Given the description of an element on the screen output the (x, y) to click on. 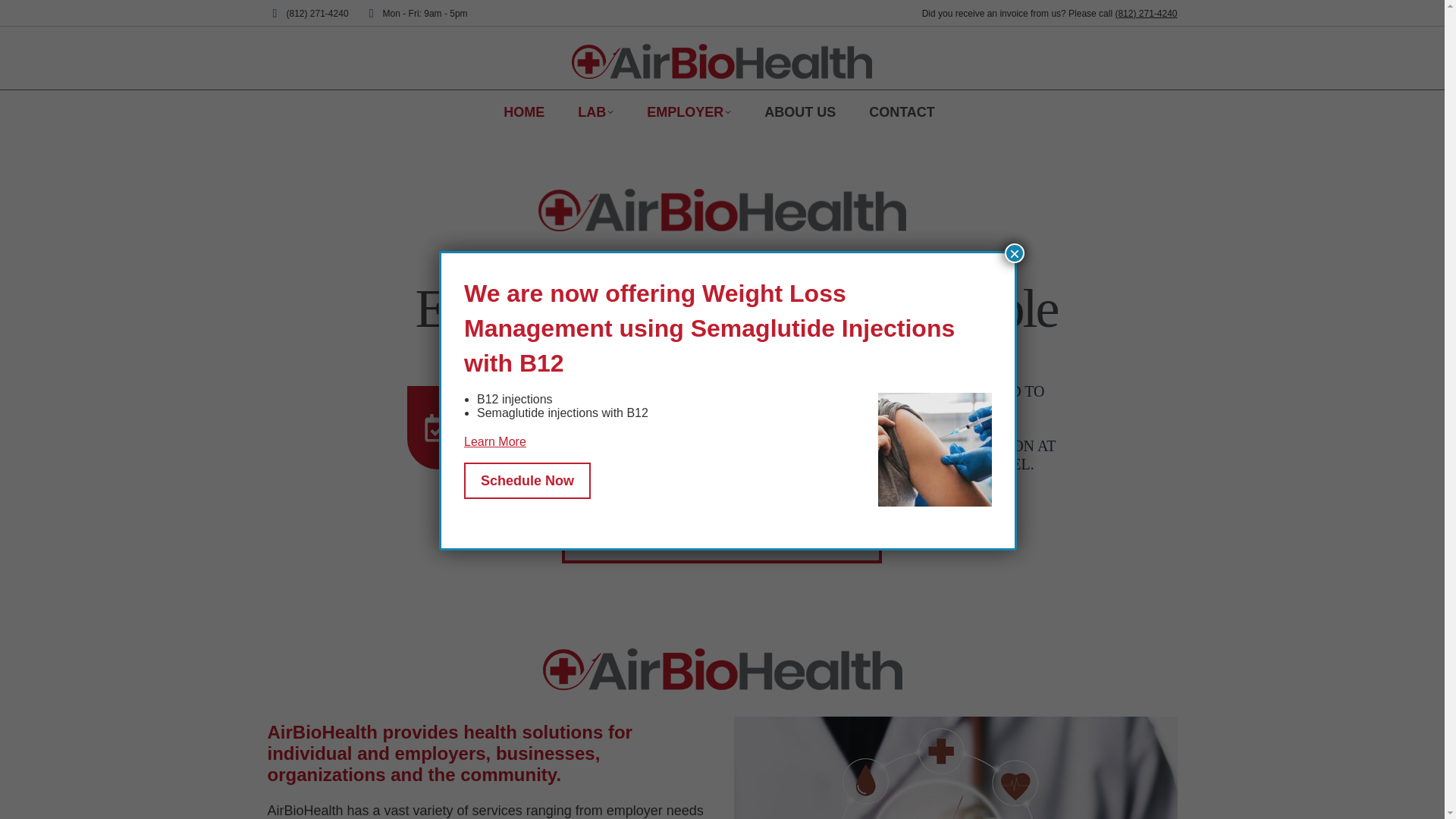
CONTACT (902, 111)
LAB (595, 111)
HOME (523, 111)
ABOUT US (799, 111)
EMPLOYER (688, 111)
AirBioHealth-Logo-55h (722, 669)
